Given the description of an element on the screen output the (x, y) to click on. 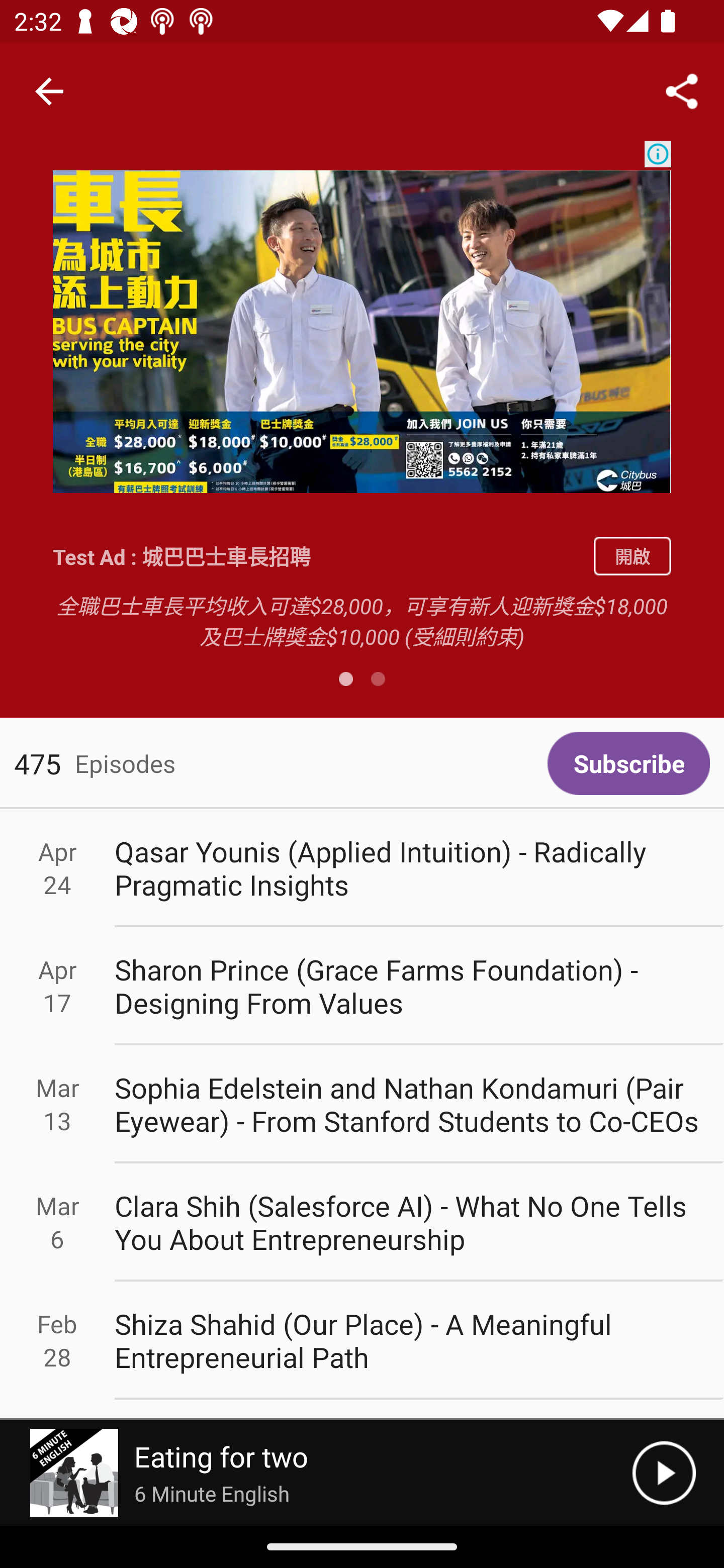
Navigate up (49, 91)
Share... (681, 90)
Ad Choices Icon (657, 154)
開啟 (632, 555)
Test Ad : 城巴巴士車長招聘 (315, 555)
Subscribe (628, 763)
Picture Eating for two 6 Minute English (316, 1472)
Play (663, 1472)
